Given the description of an element on the screen output the (x, y) to click on. 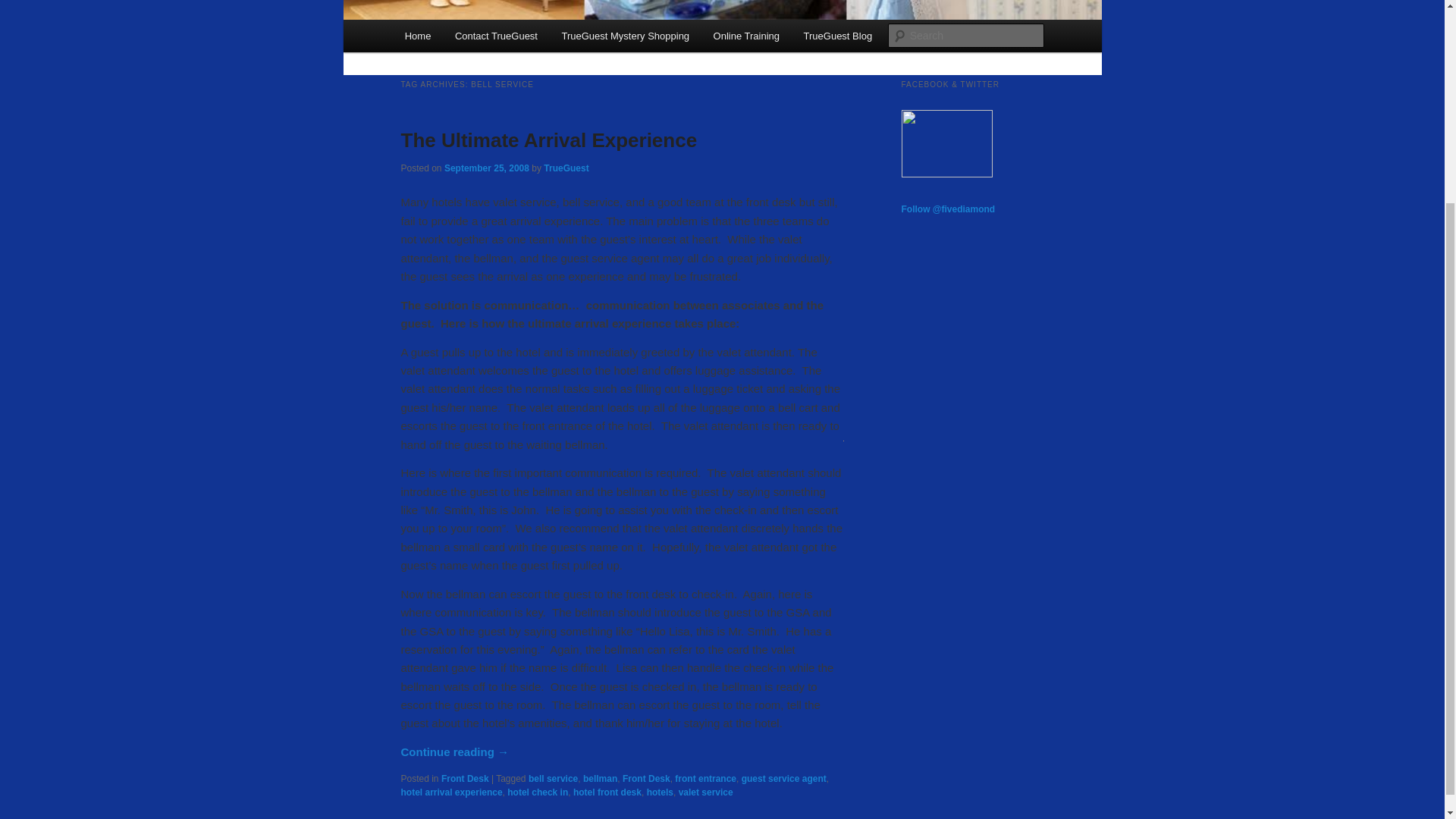
TrueGuest (565, 167)
Skip to primary content (472, 38)
hotel front desk (607, 792)
hotel arrival experience (451, 792)
hotel check in (536, 792)
Home (417, 35)
TrueGuest Blog (837, 35)
Skip to secondary content (479, 38)
2:43 pm (486, 167)
bellman (600, 778)
